Given the description of an element on the screen output the (x, y) to click on. 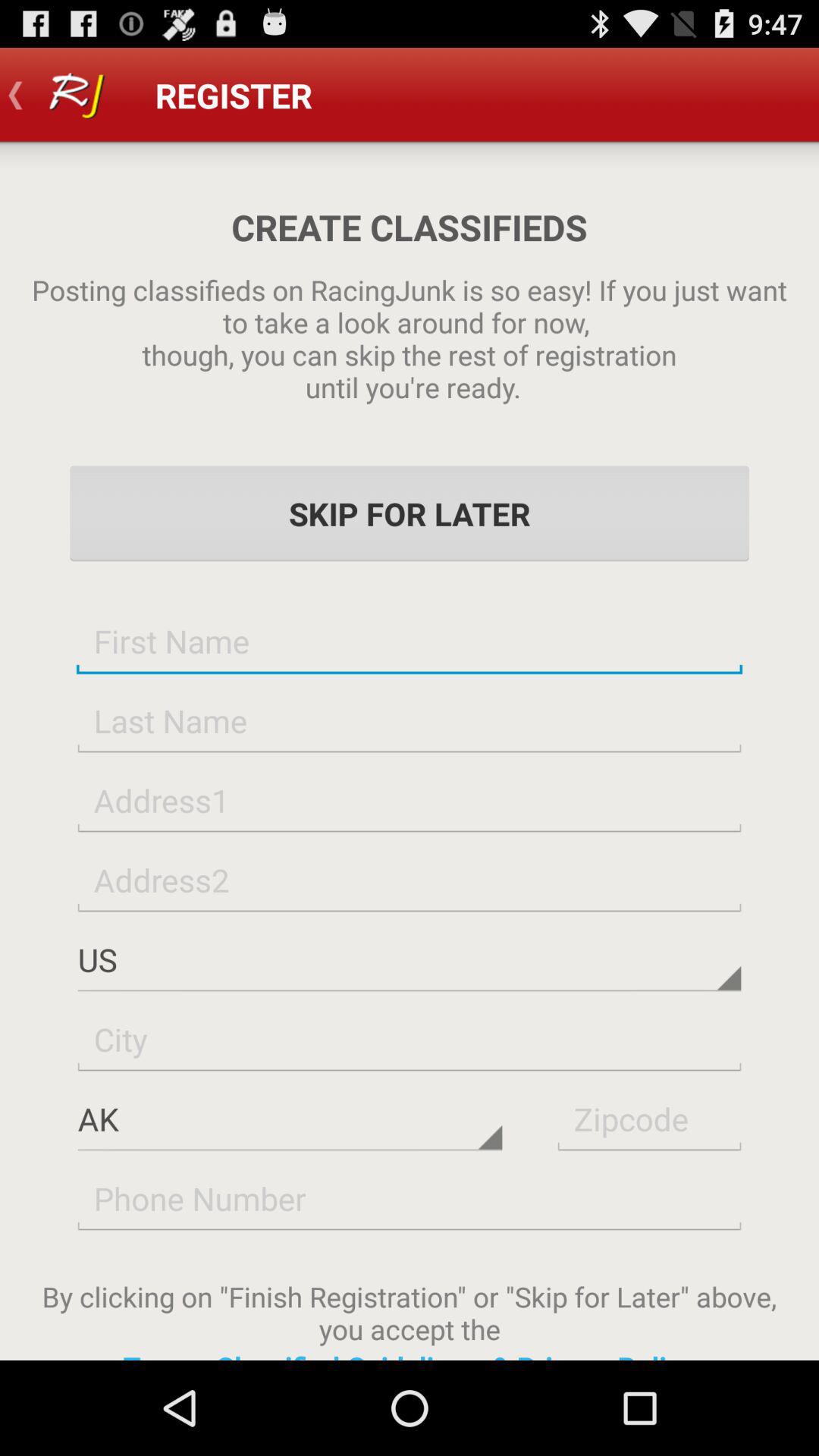
enter address (409, 800)
